Given the description of an element on the screen output the (x, y) to click on. 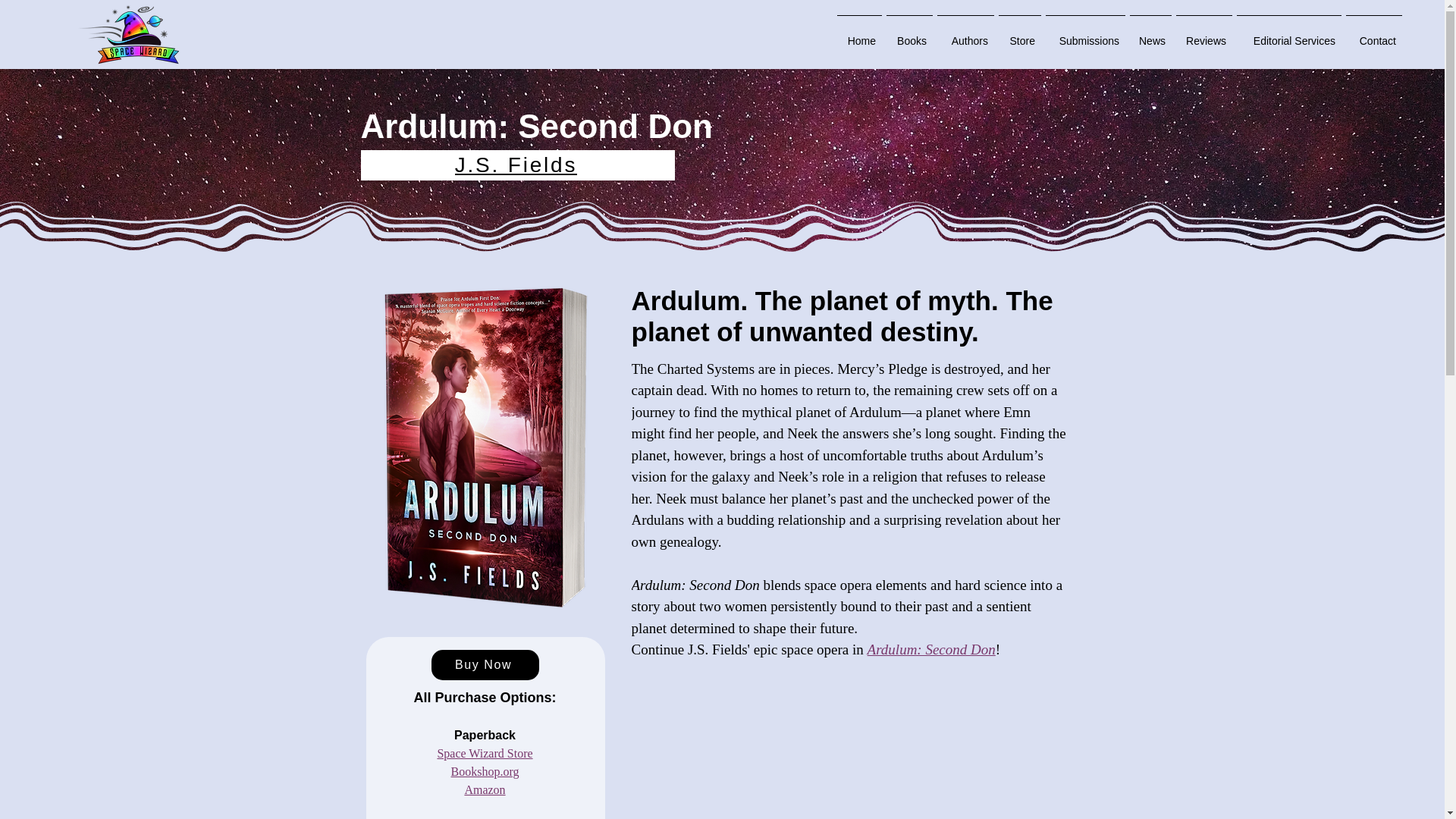
Submissions (1084, 34)
Space Wizard Store (484, 753)
Books (908, 34)
Amazon (484, 789)
Ardulum: Second Don (931, 649)
Reviews (1203, 34)
J.S. Fields (518, 164)
Editorial Services (1288, 34)
Store (1019, 34)
Contact (1374, 34)
Bookshop.org (485, 771)
Buy Now (484, 665)
Authors (964, 34)
News (1149, 34)
Home (858, 34)
